Given the description of an element on the screen output the (x, y) to click on. 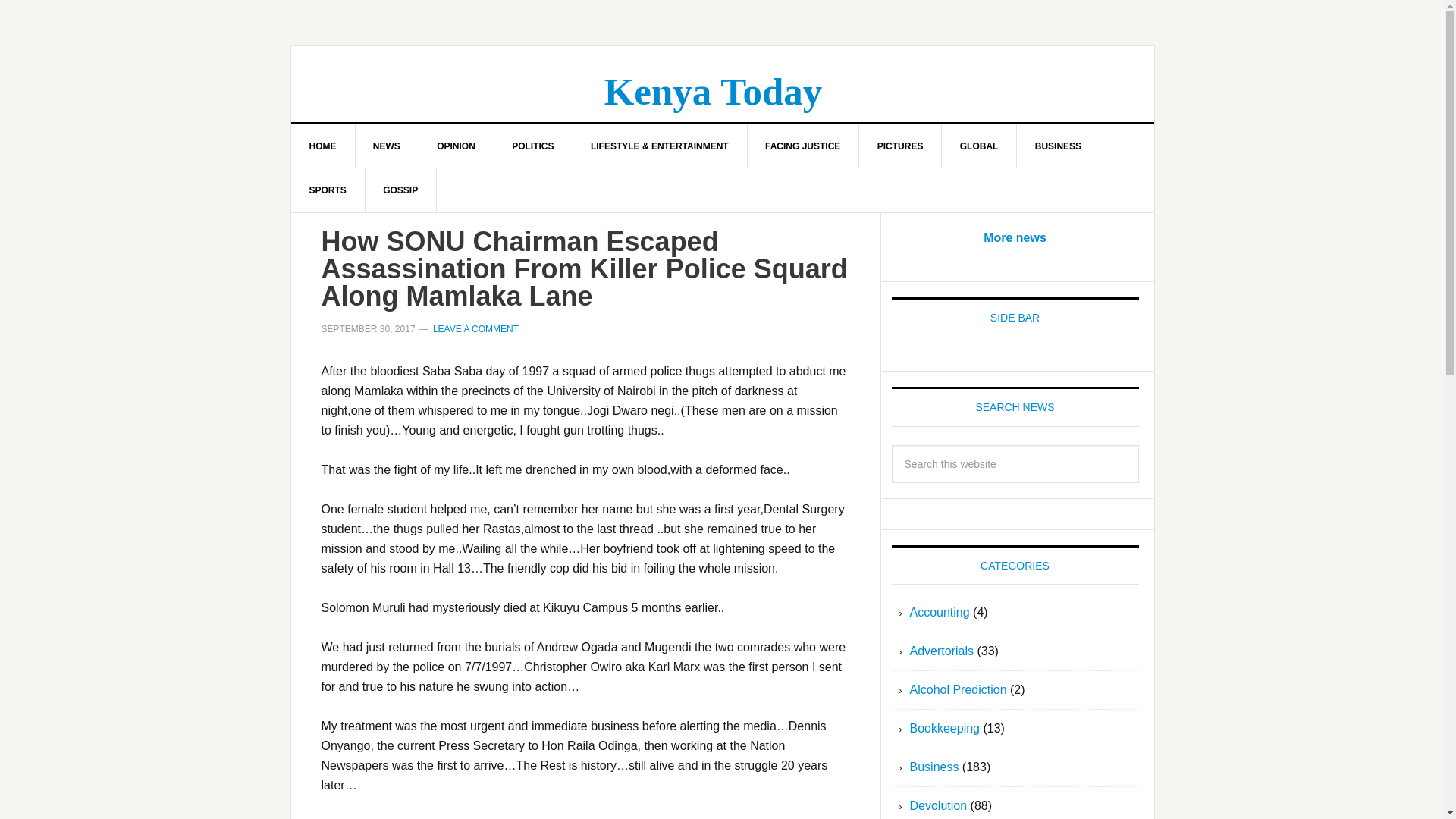
GOSSIP (400, 190)
Alcohol Prediction (958, 689)
NEWS (387, 146)
GLOBAL (979, 146)
LEAVE A COMMENT (475, 328)
POLITICS (532, 146)
Devolution (939, 805)
FACING JUSTICE (802, 146)
BUSINESS (1058, 146)
Accounting (939, 612)
HOME (323, 146)
SPORTS (328, 190)
